Given the description of an element on the screen output the (x, y) to click on. 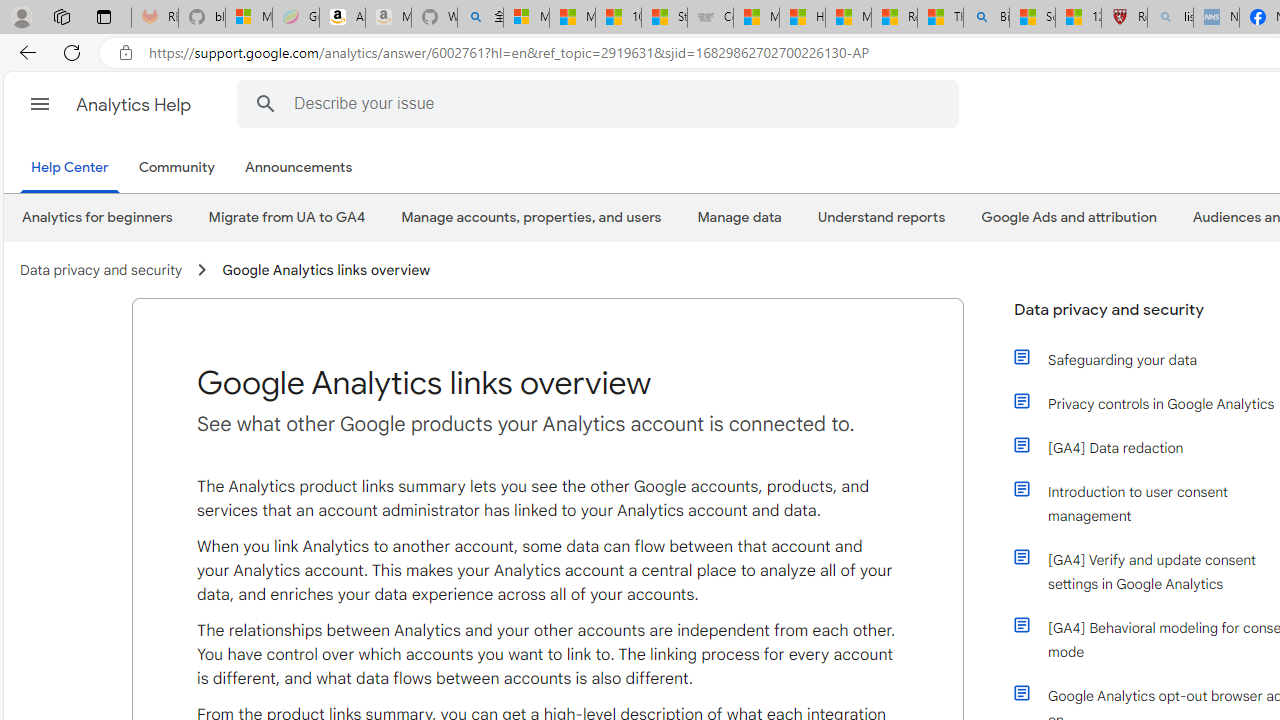
Analytics for beginners (96, 217)
Data privacy and security (101, 269)
Main menu (39, 103)
Understand reports (881, 217)
Google Ads and attribution (1068, 217)
Google Ads and attribution (1068, 217)
Analytics for beginners (97, 217)
Announcements (298, 168)
Science - MSN (1031, 17)
Search Help Center (265, 103)
Analytics Help (134, 104)
